Given the description of an element on the screen output the (x, y) to click on. 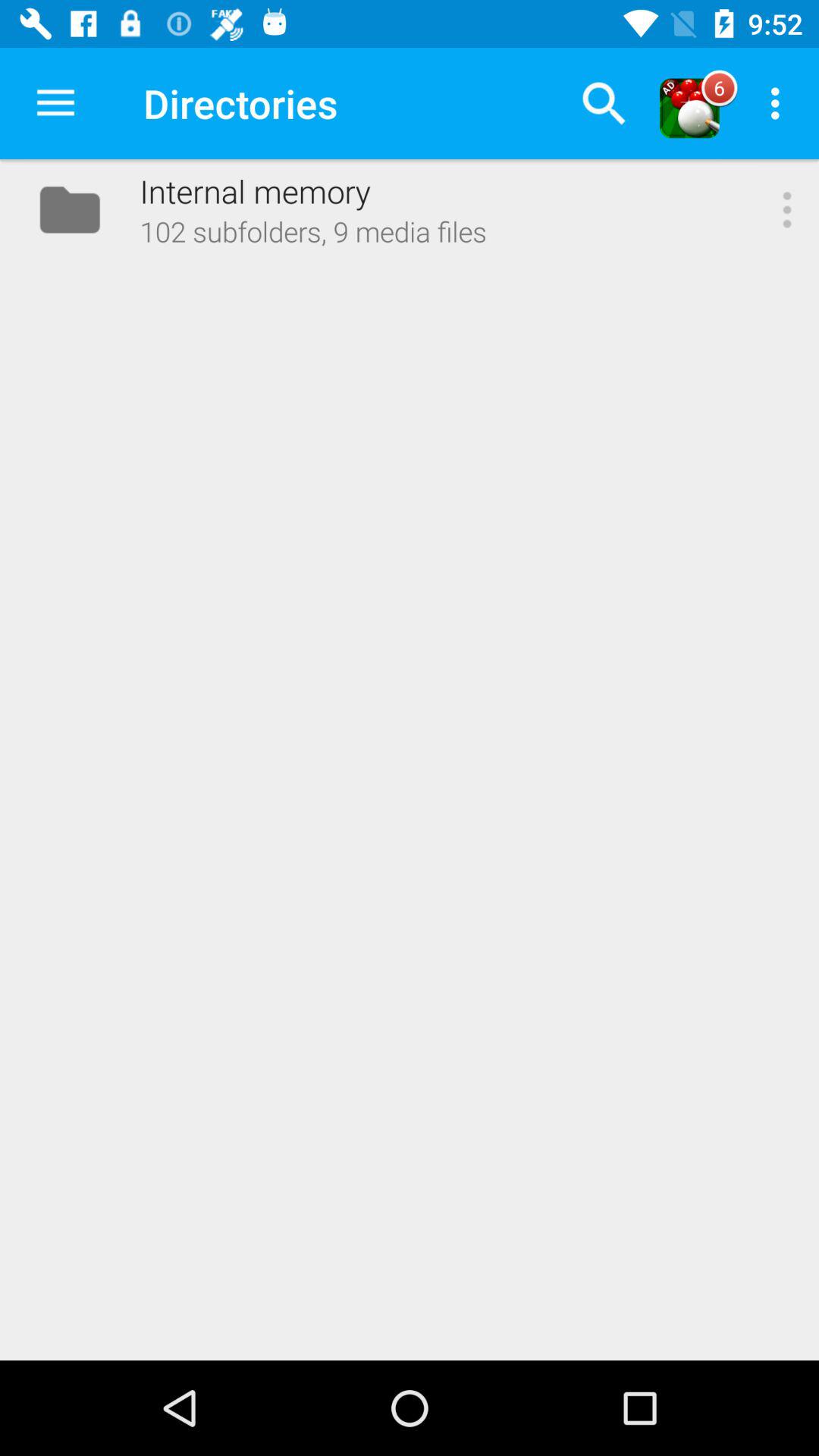
turn on the icon next to 102 subfolders 9 item (787, 209)
